Given the description of an element on the screen output the (x, y) to click on. 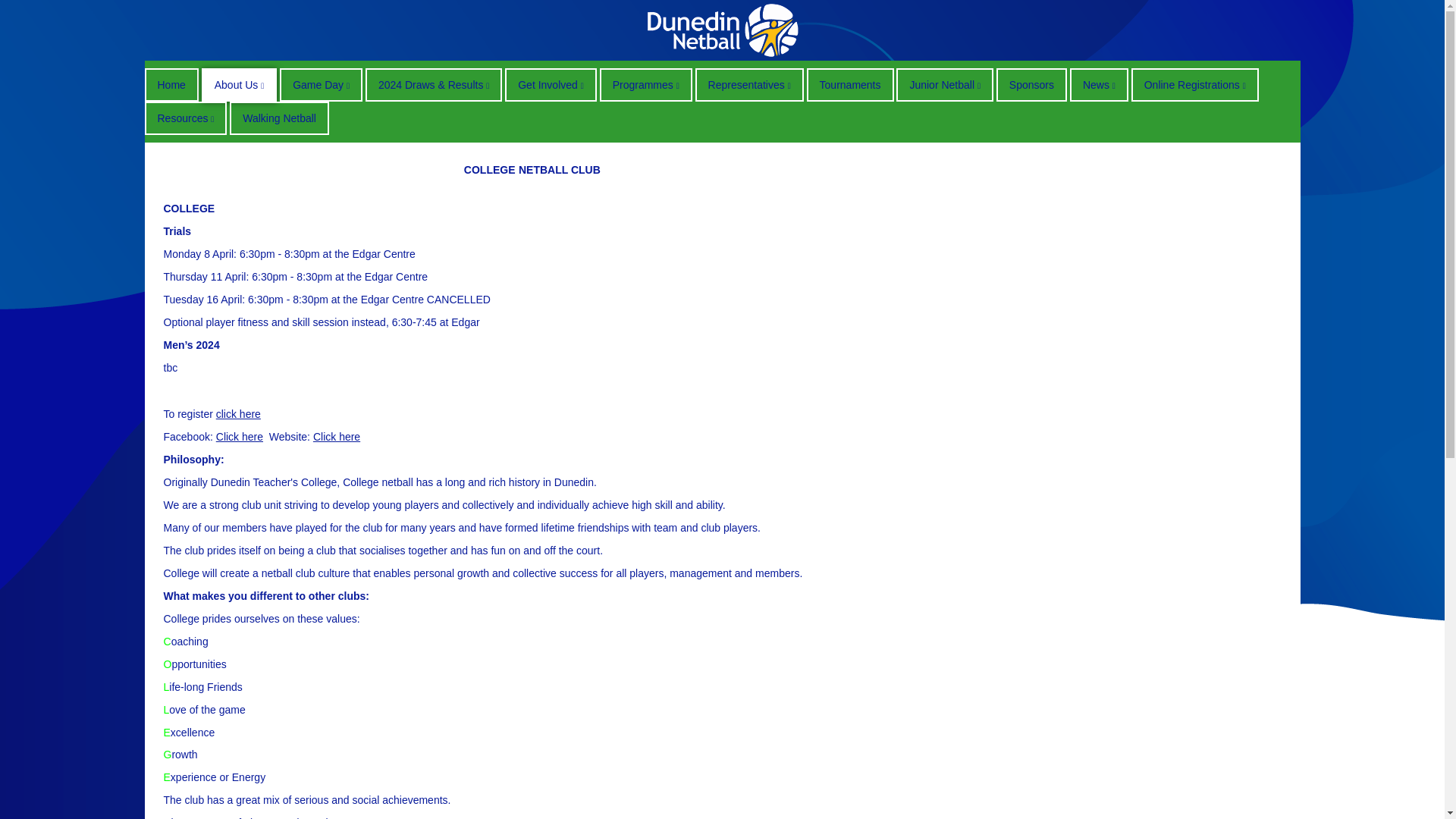
Home (171, 84)
Game Day (320, 84)
About Us (240, 84)
Get Involved (550, 84)
